Given the description of an element on the screen output the (x, y) to click on. 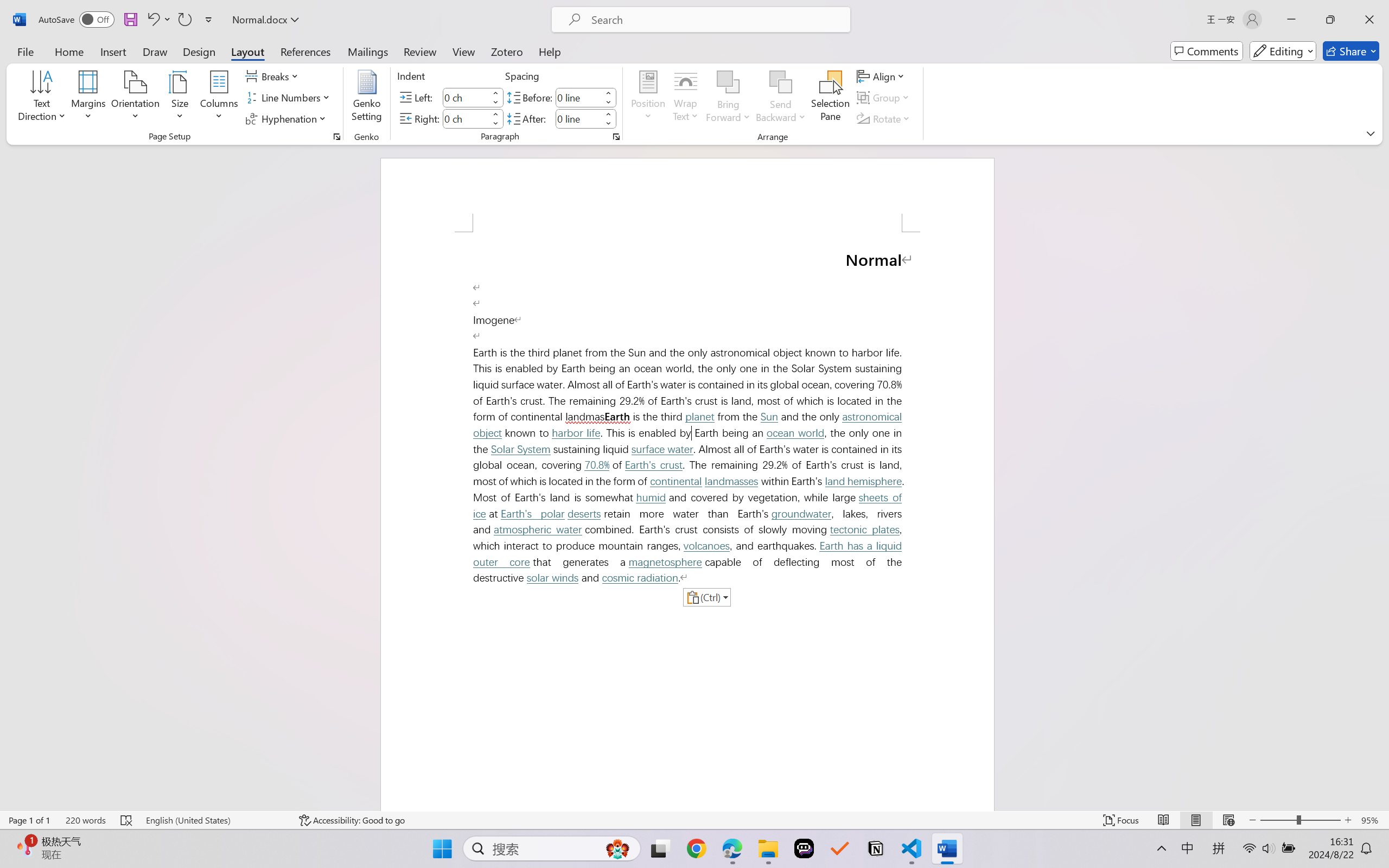
Undo Paste Destination Formatting (152, 19)
Earth's polar (533, 513)
Send Backward (781, 97)
More (608, 113)
Repeat Doc Close (184, 19)
Undo Paste Destination Formatting (158, 19)
Margins (88, 97)
solar winds (551, 578)
